Given the description of an element on the screen output the (x, y) to click on. 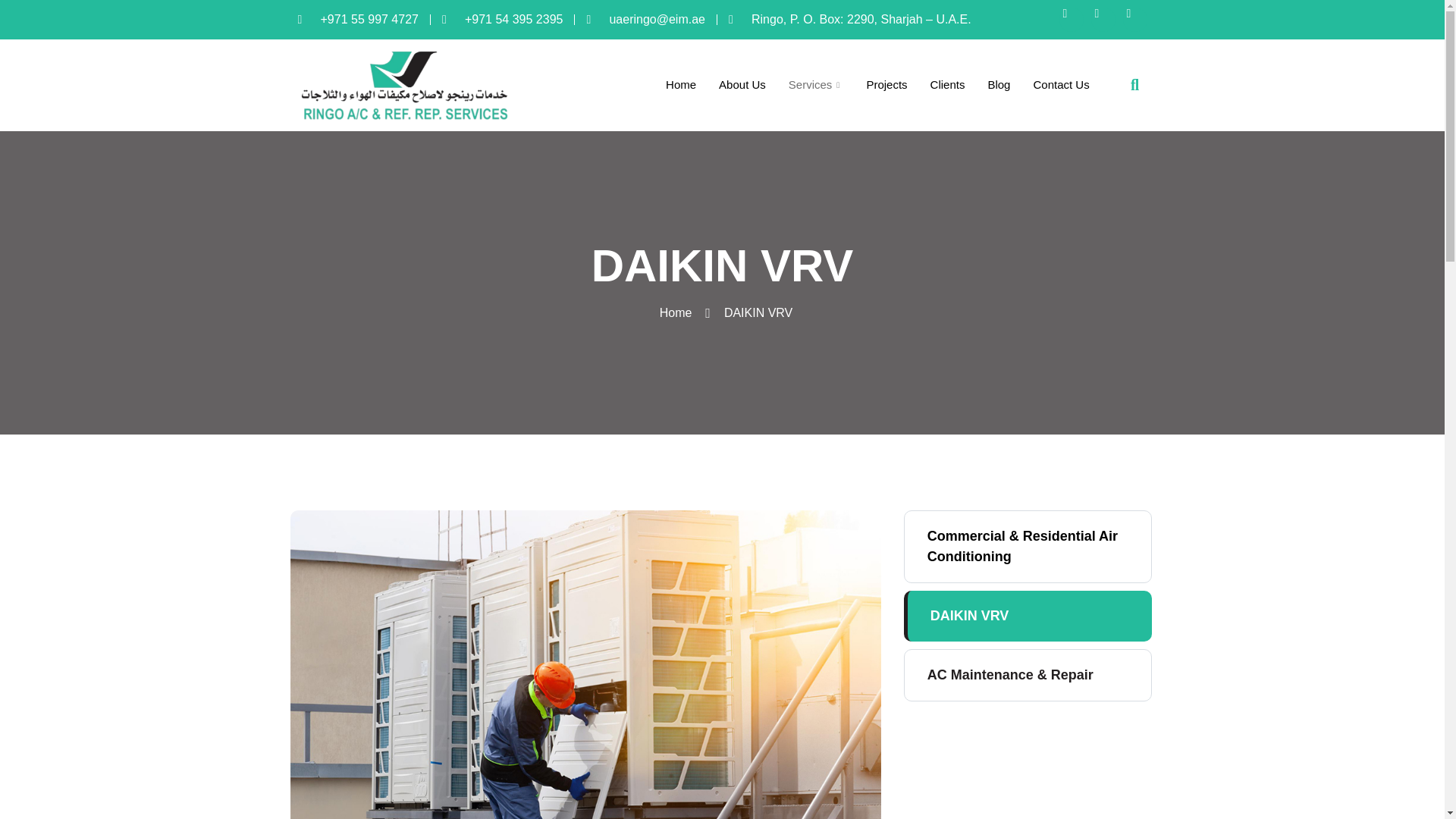
Services (816, 84)
Home (672, 312)
DAIKIN VRV (1027, 615)
Clients (947, 84)
Projects (886, 84)
Contact Us (1061, 84)
About Us (742, 84)
